Given the description of an element on the screen output the (x, y) to click on. 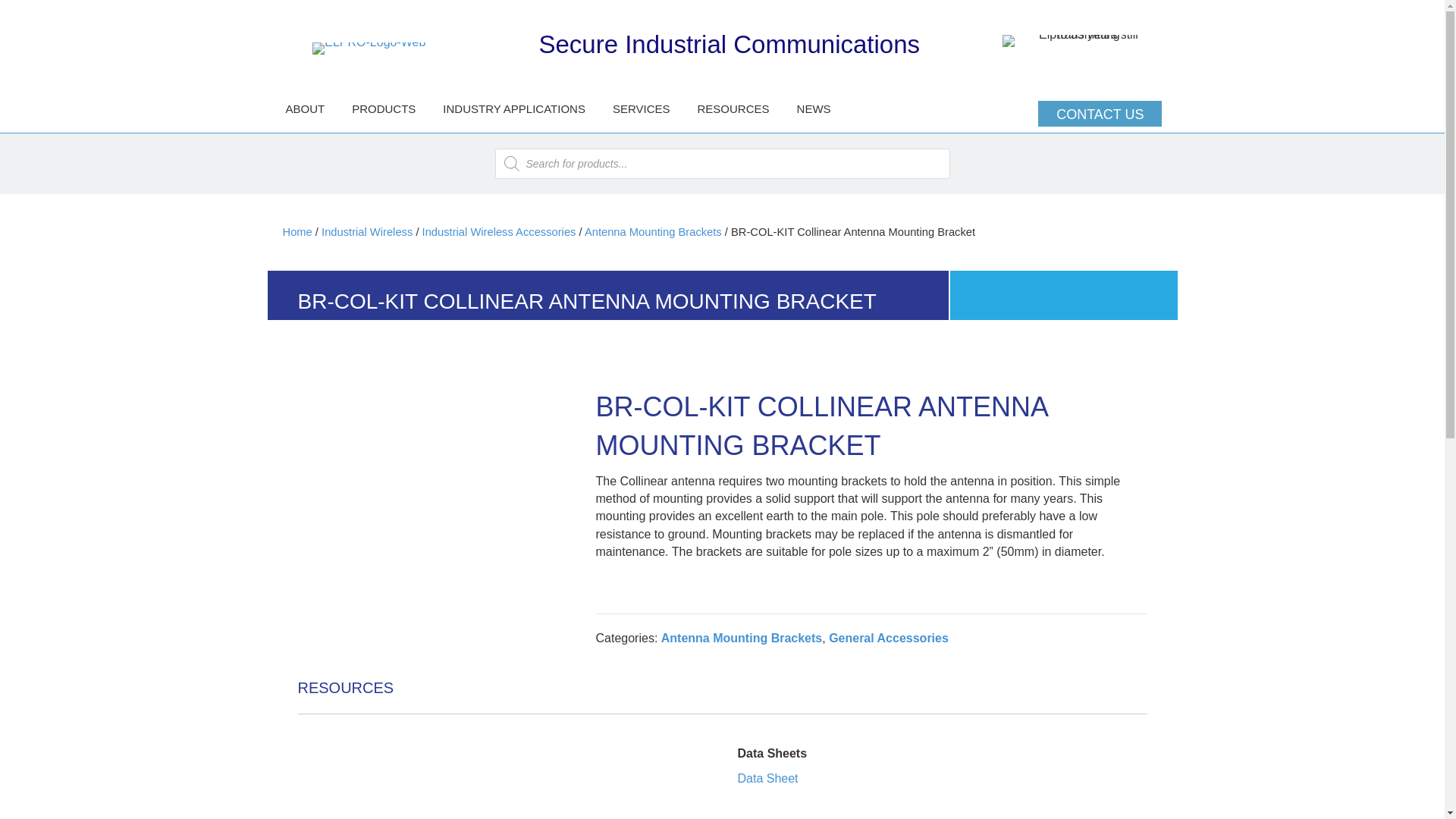
ABOUT (304, 112)
Elpro 35 years still transmitting (1082, 40)
PRODUCTS (383, 112)
ELPRO-Logo-Web (369, 48)
INDUSTRY APPLICATIONS (513, 112)
